Given the description of an element on the screen output the (x, y) to click on. 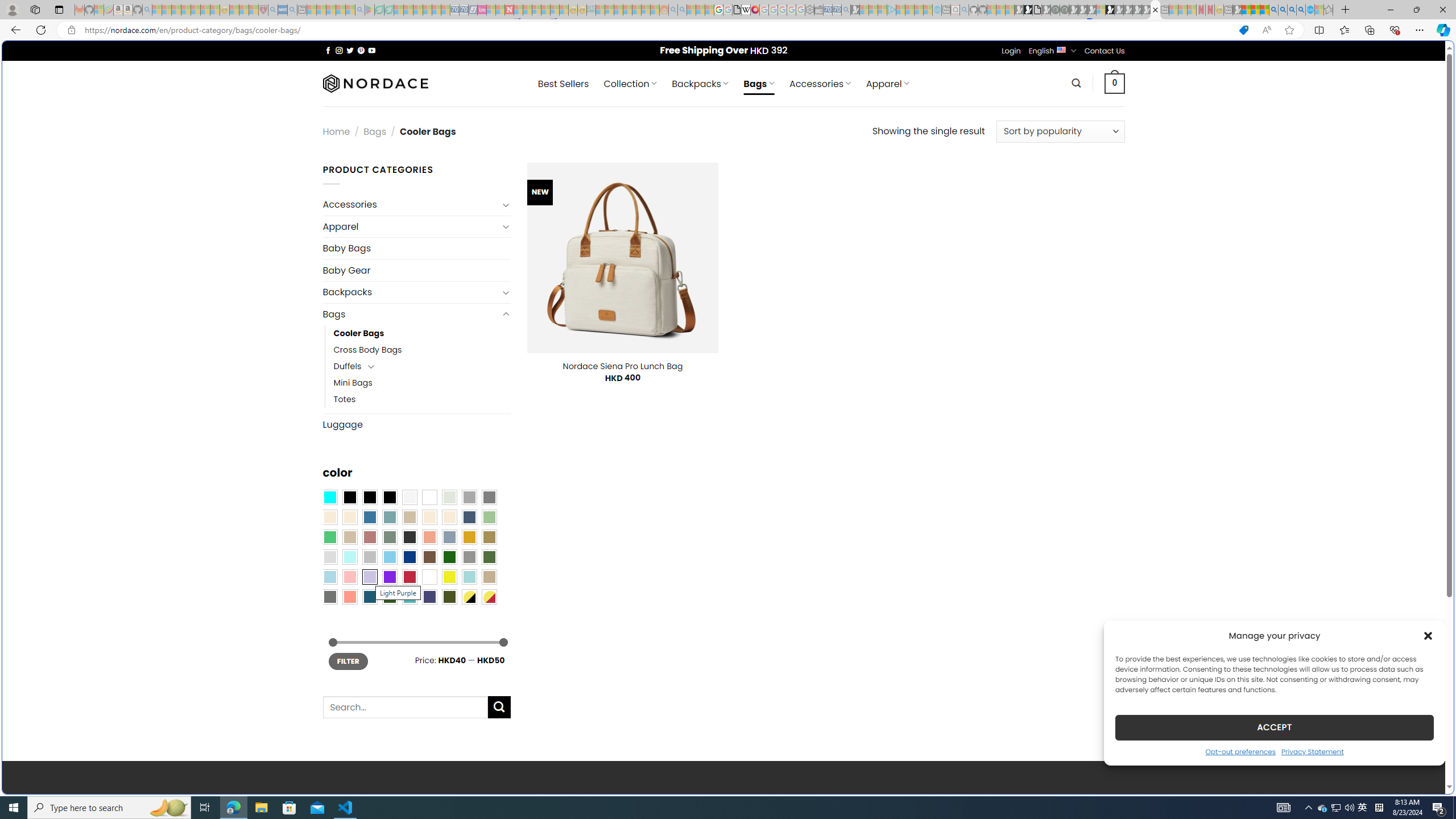
Clear (429, 497)
Brownie (408, 517)
Cooler Bags (358, 333)
Trusted Community Engagement and Contributions | Guidelines (518, 9)
Yellow-Black (468, 596)
World - MSN (727, 389)
Go to top (1421, 777)
Nordace (374, 83)
